Given the description of an element on the screen output the (x, y) to click on. 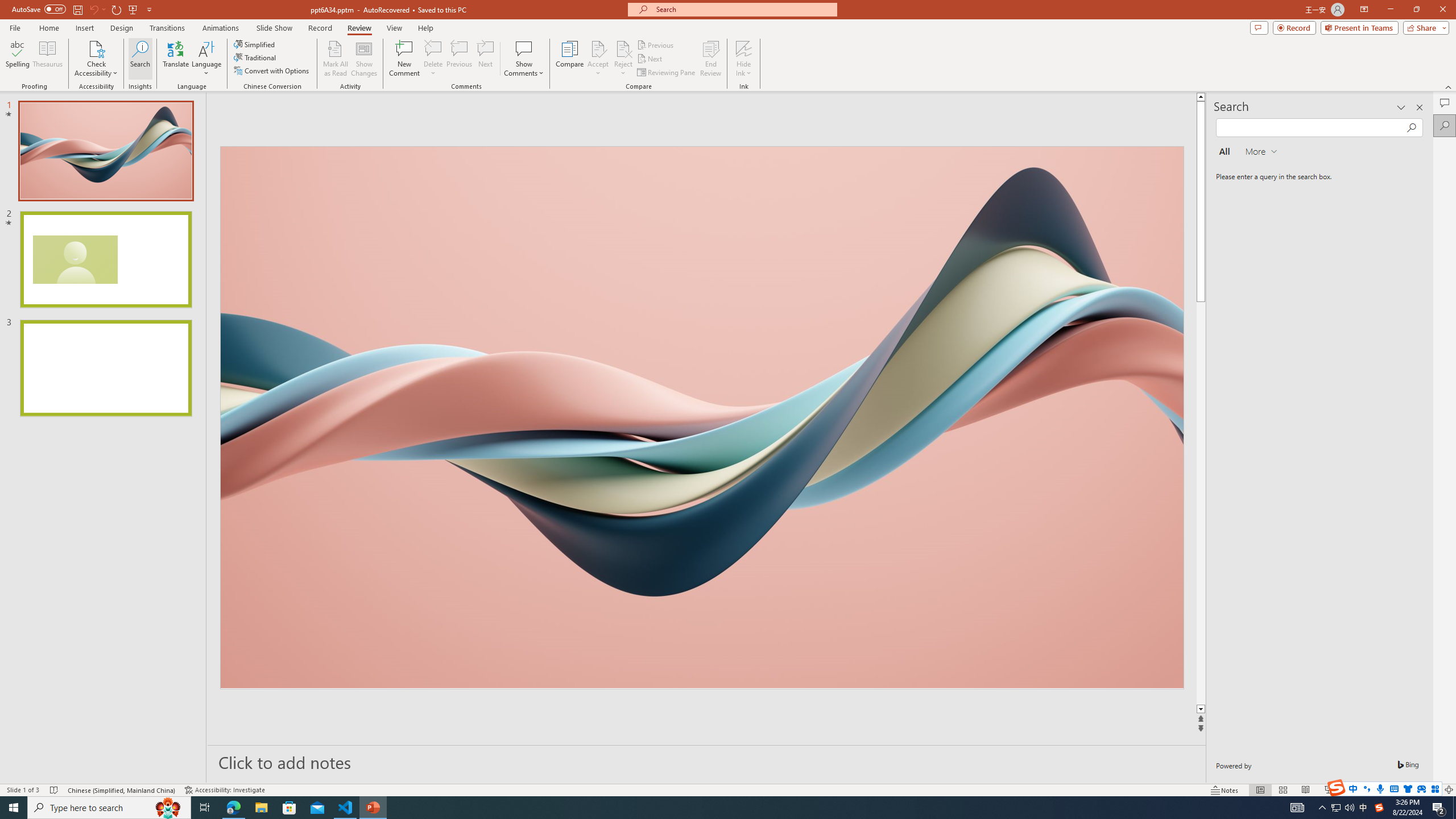
Previous (655, 44)
Traditional (255, 56)
Show Comments (524, 58)
Thesaurus... (47, 58)
